Given the description of an element on the screen output the (x, y) to click on. 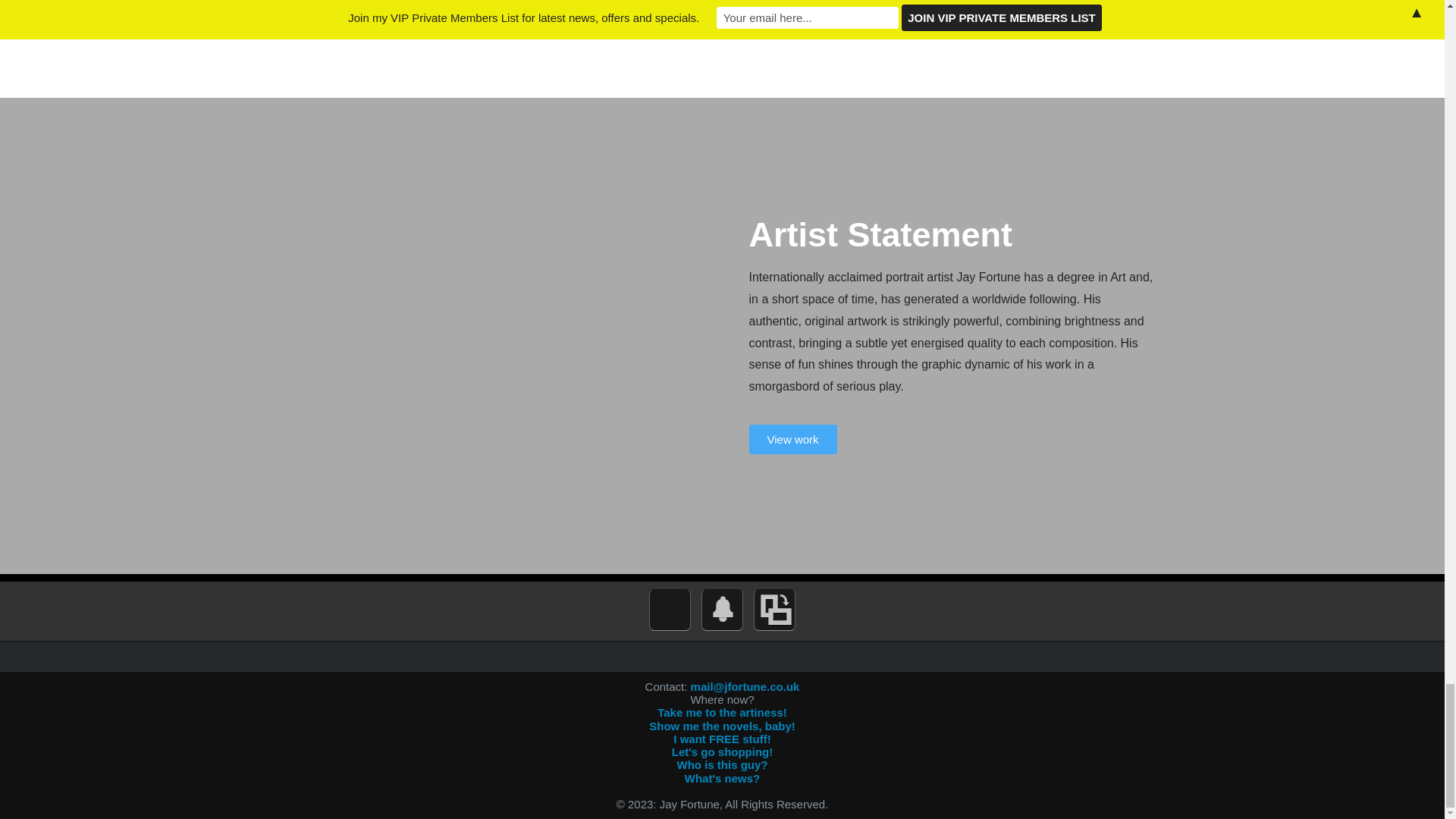
Let's go shopping! (722, 751)
Show me the novels, baby! (721, 725)
BACK TO TOP (362, 11)
View work (793, 439)
What's news? (722, 778)
Take me to the artiness! (722, 712)
I want FREE stuff! (721, 738)
Who is this guy? (722, 764)
